Given the description of an element on the screen output the (x, y) to click on. 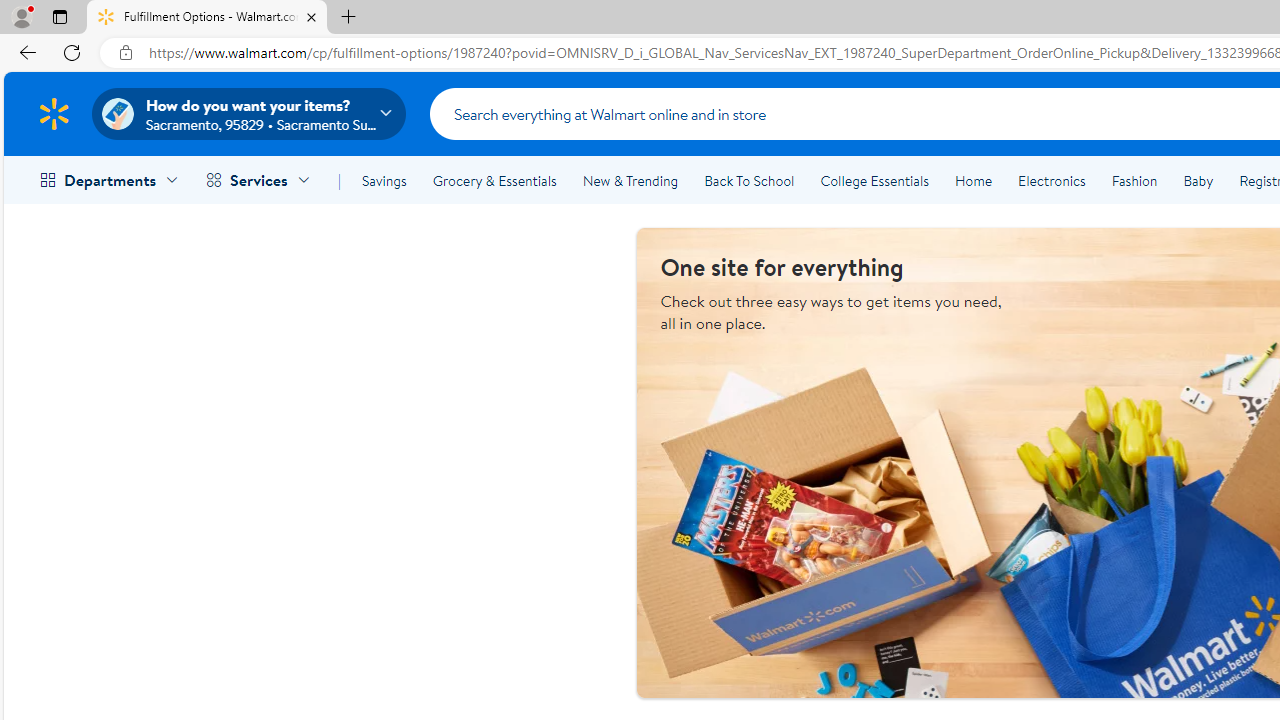
Fashion (1134, 180)
Back To School (749, 180)
College Essentials (874, 180)
Savings (384, 180)
Savings (384, 180)
